Given the description of an element on the screen output the (x, y) to click on. 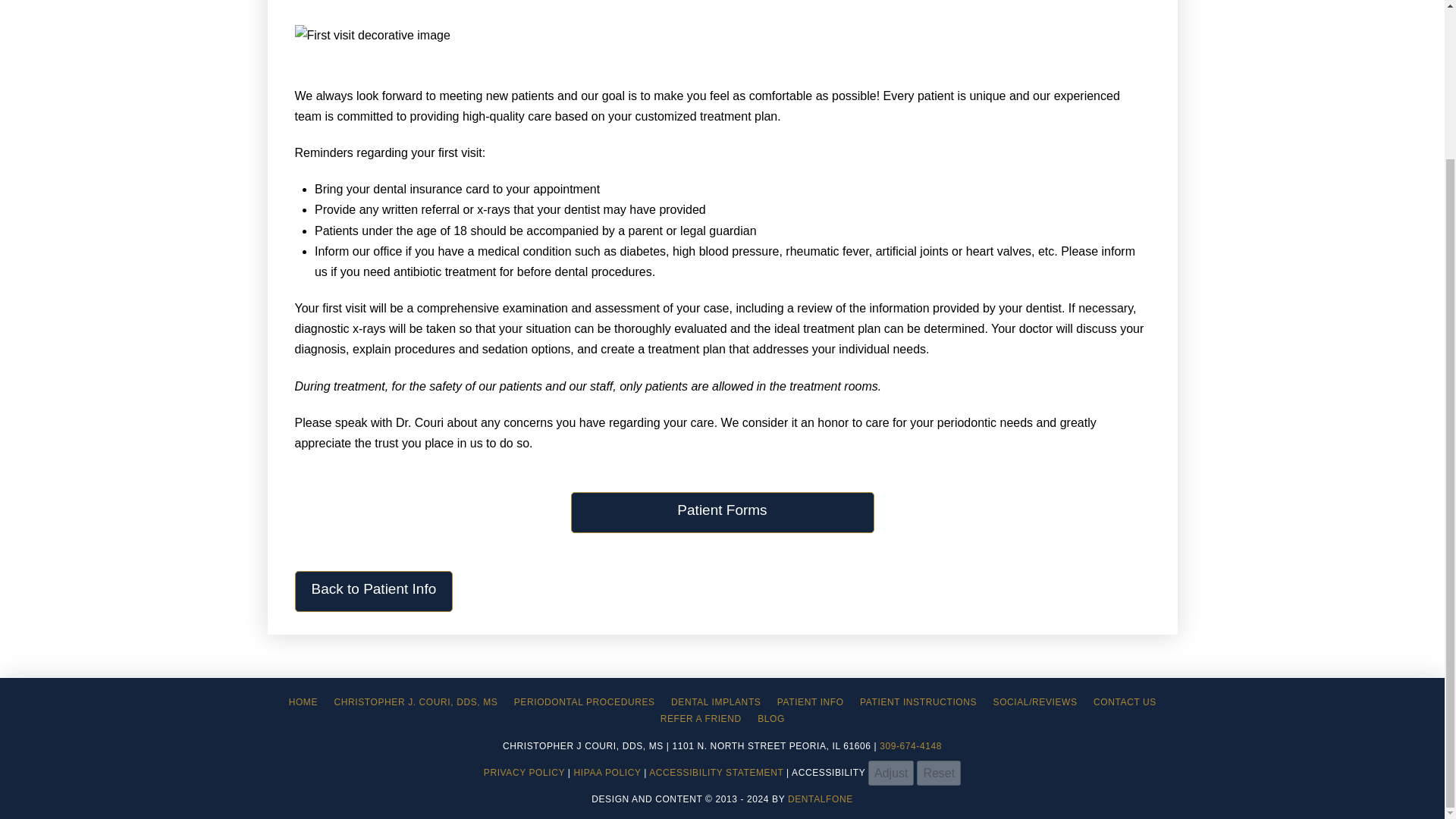
Back to Patient Information (373, 590)
Contact Our Office (1123, 701)
Phone Number (910, 746)
Patient Forms (721, 512)
Patient Forms (721, 512)
